Given the description of an element on the screen output the (x, y) to click on. 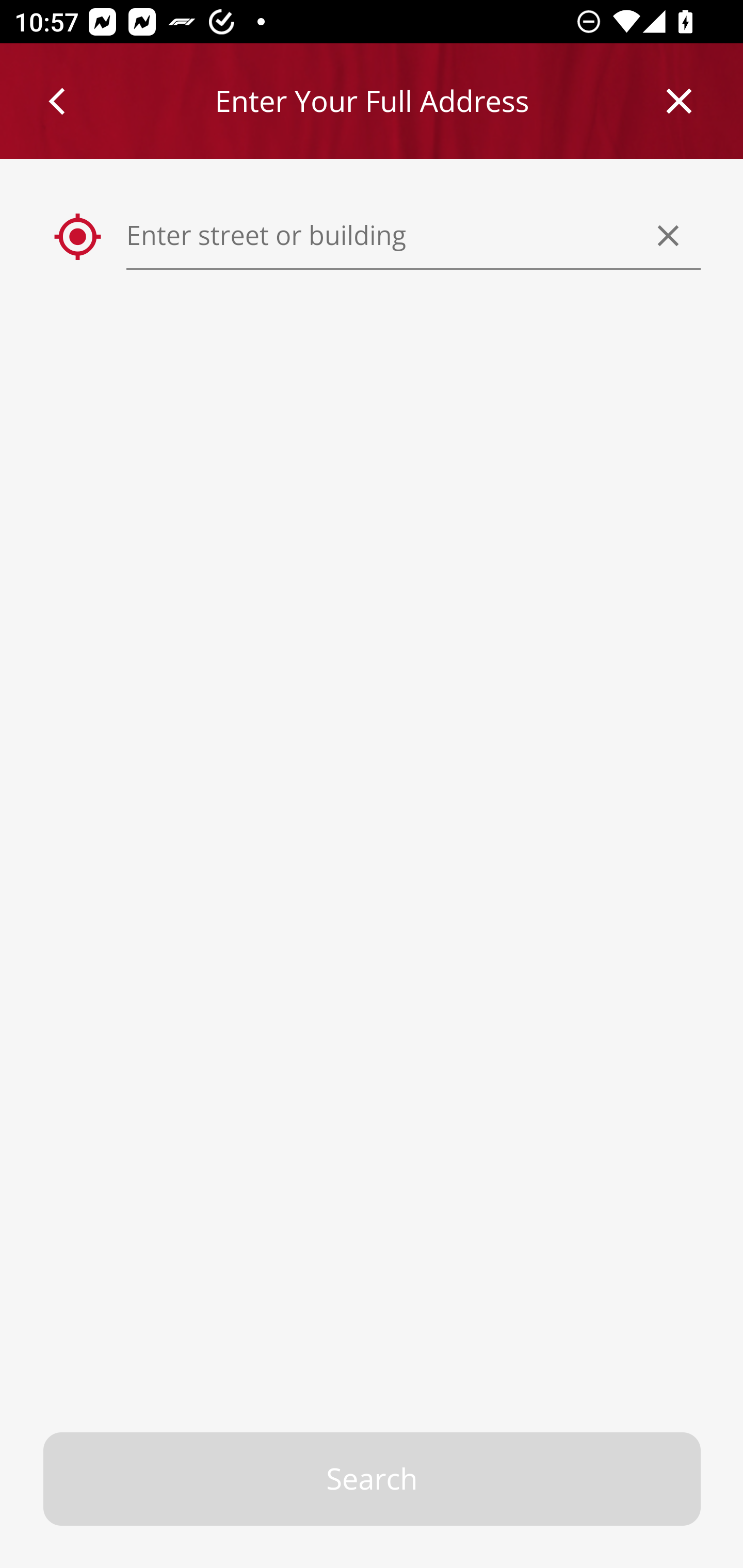
arrow_back_ios (65, 100)
close (679, 100)
gps_fixed (78, 237)
clear (669, 235)
Search (372, 1479)
